Given the description of an element on the screen output the (x, y) to click on. 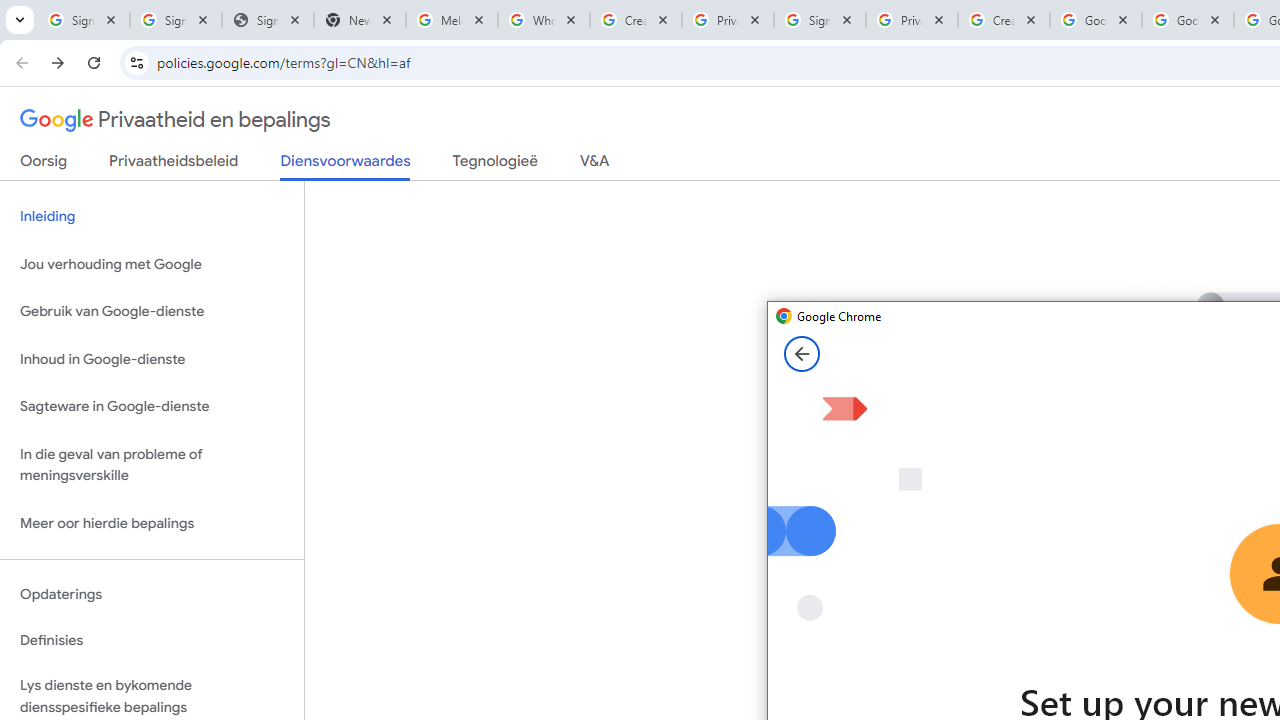
Sign In - USA TODAY (267, 20)
Privaatheid en bepalings (175, 120)
Meer oor hierdie bepalings (152, 522)
Sign in - Google Accounts (820, 20)
Gebruik van Google-dienste (152, 312)
Jou verhouding met Google (152, 263)
